Given the description of an element on the screen output the (x, y) to click on. 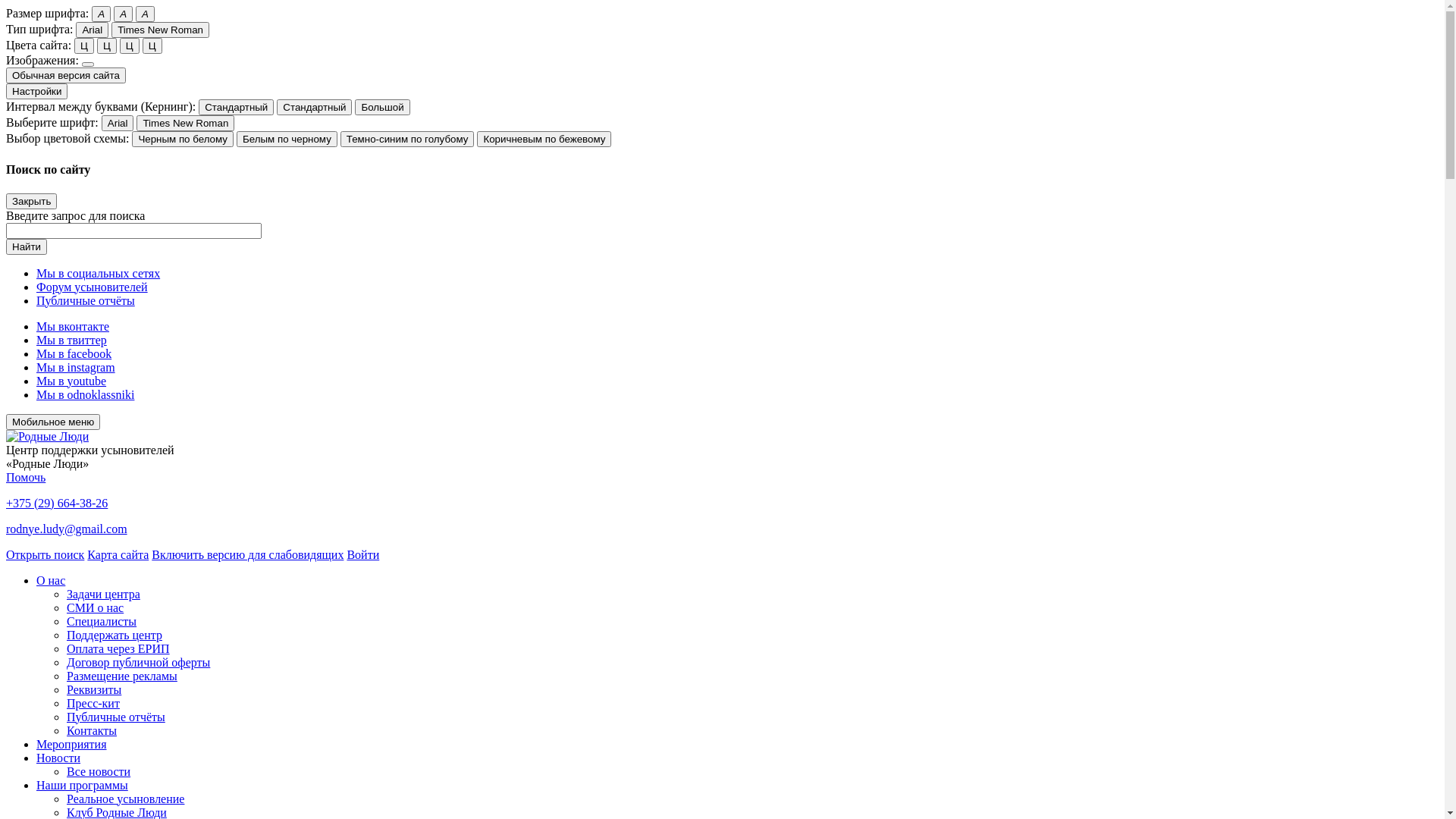
+375 (29) 664-38-26 Element type: text (56, 502)
A Element type: text (144, 13)
Arial Element type: text (91, 29)
Arial Element type: text (117, 123)
A Element type: text (100, 13)
rodnye.ludy@gmail.com Element type: text (66, 528)
A Element type: text (122, 13)
Times New Roman Element type: text (160, 29)
Times New Roman Element type: text (185, 123)
